Given the description of an element on the screen output the (x, y) to click on. 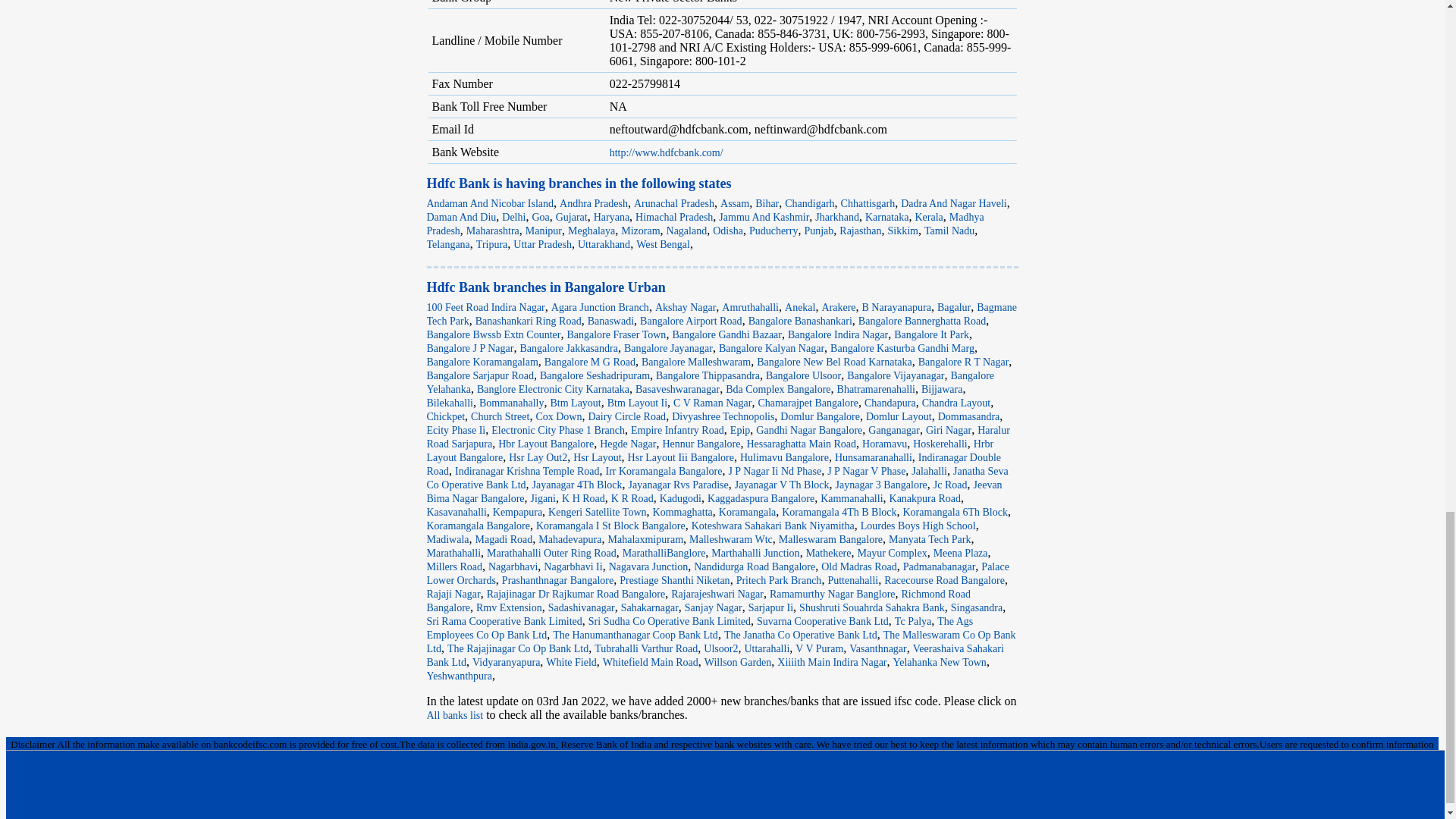
Maharashtra (492, 230)
Kerala (928, 216)
Gujarat (572, 216)
Meghalaya (590, 230)
Chhattisgarh (868, 203)
Delhi (513, 216)
Andhra Pradesh (593, 203)
Himachal Pradesh (673, 216)
Manipur (543, 230)
Assam (734, 203)
